Given the description of an element on the screen output the (x, y) to click on. 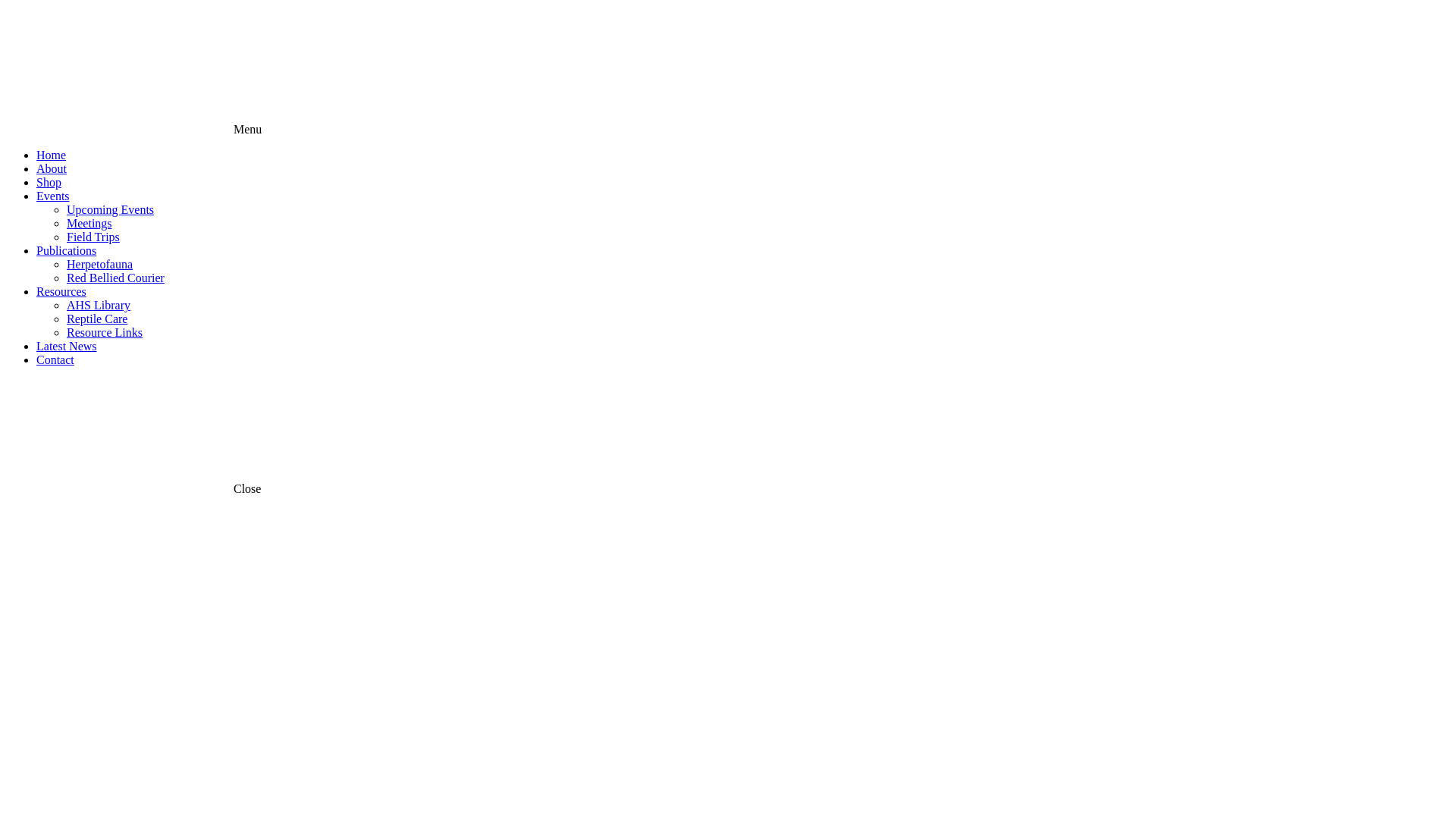
Latest News Element type: text (66, 345)
Field Trips Element type: text (92, 236)
Contact Element type: text (55, 359)
Meetings Element type: text (89, 222)
Publications Element type: text (66, 250)
Resources Element type: text (61, 291)
Resource Links Element type: text (104, 332)
Herpetofauna Element type: text (99, 263)
Events Element type: text (52, 195)
About Element type: text (51, 168)
Shop Element type: text (48, 181)
AHS Library Element type: text (98, 304)
Red Bellied Courier Element type: text (115, 277)
Upcoming Events Element type: text (109, 209)
Reptile Care Element type: text (96, 318)
Home Element type: text (50, 154)
